Given the description of an element on the screen output the (x, y) to click on. 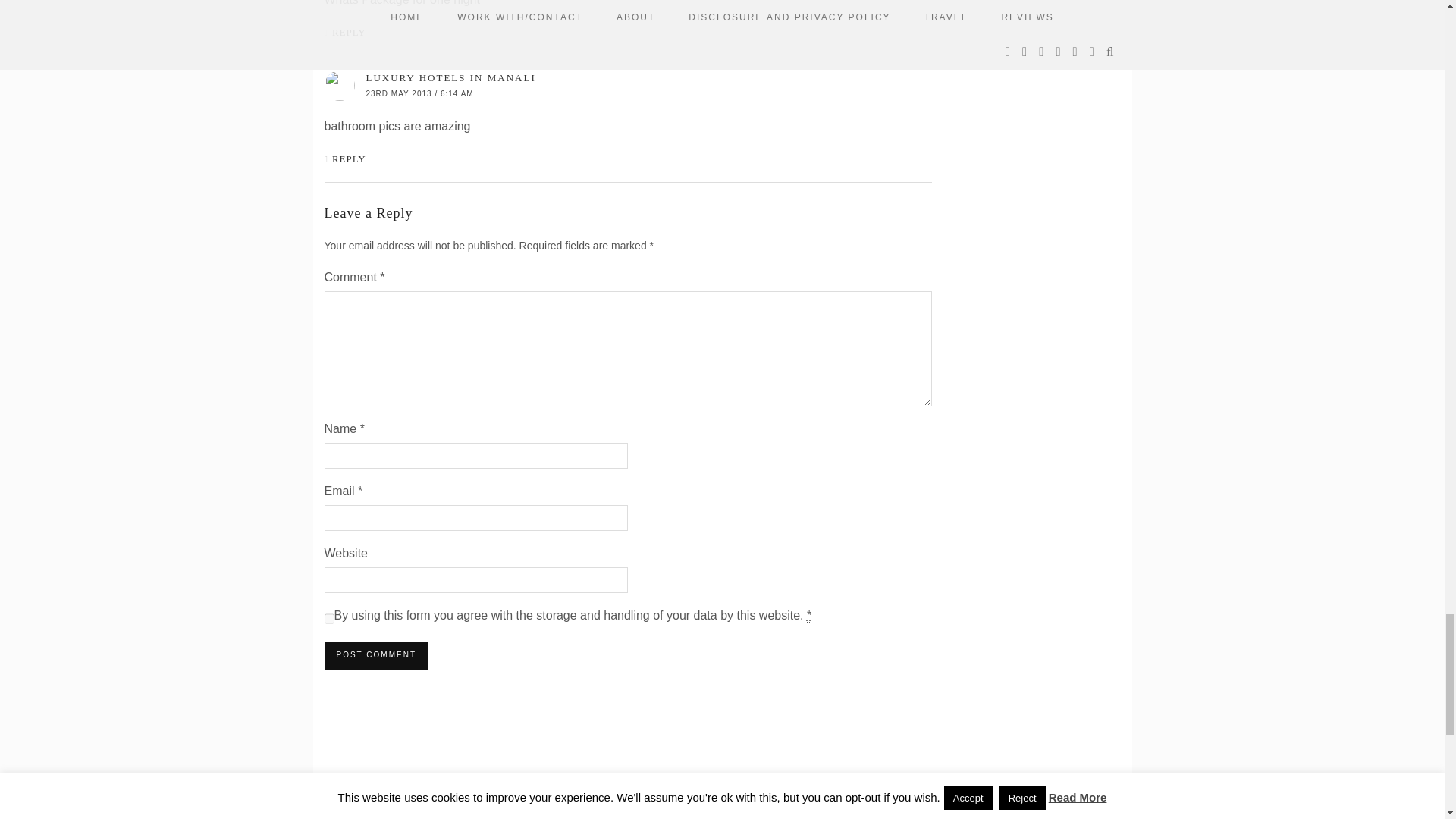
Post Comment (376, 655)
